Given the description of an element on the screen output the (x, y) to click on. 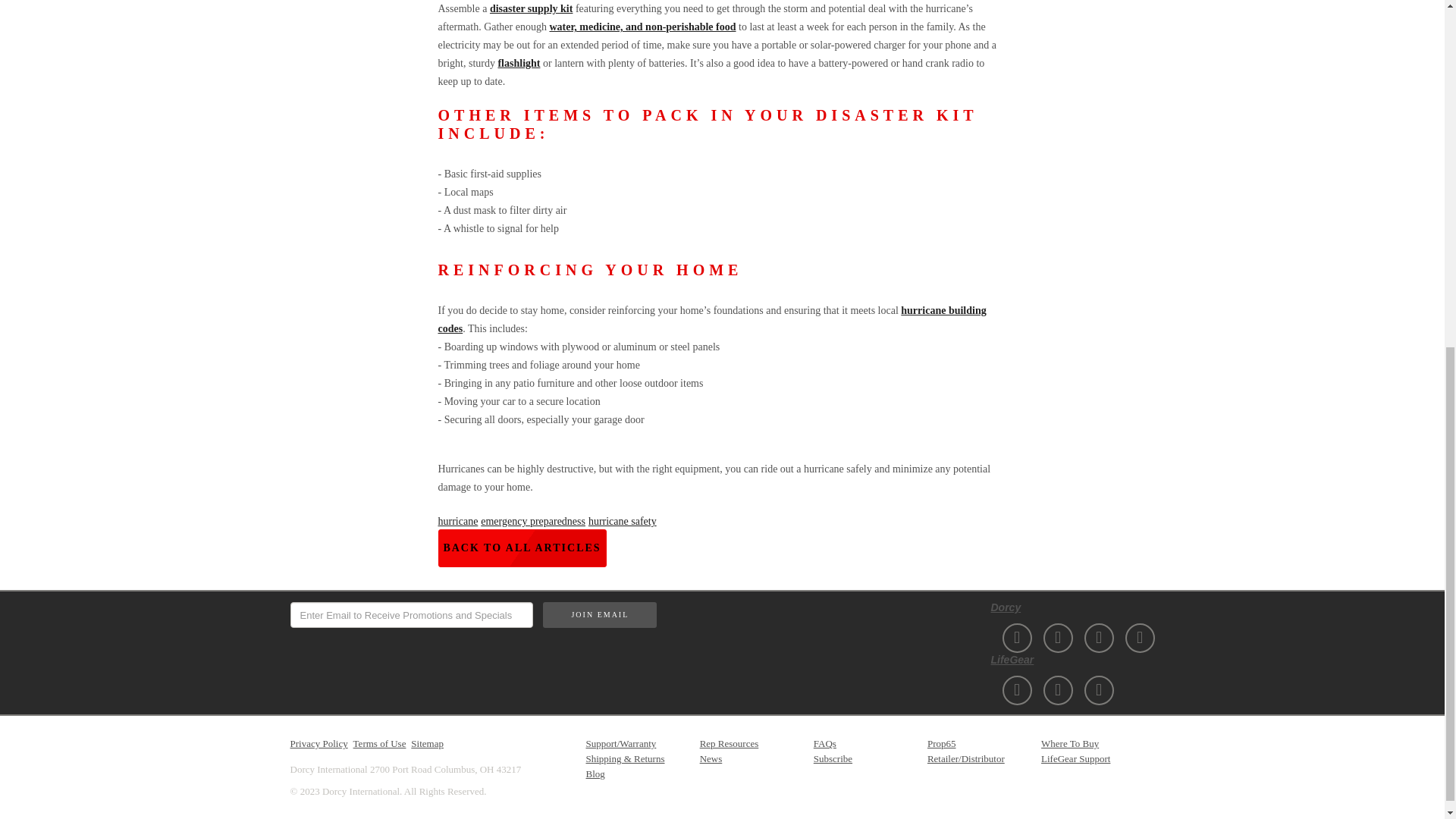
Join Email (599, 614)
